Given the description of an element on the screen output the (x, y) to click on. 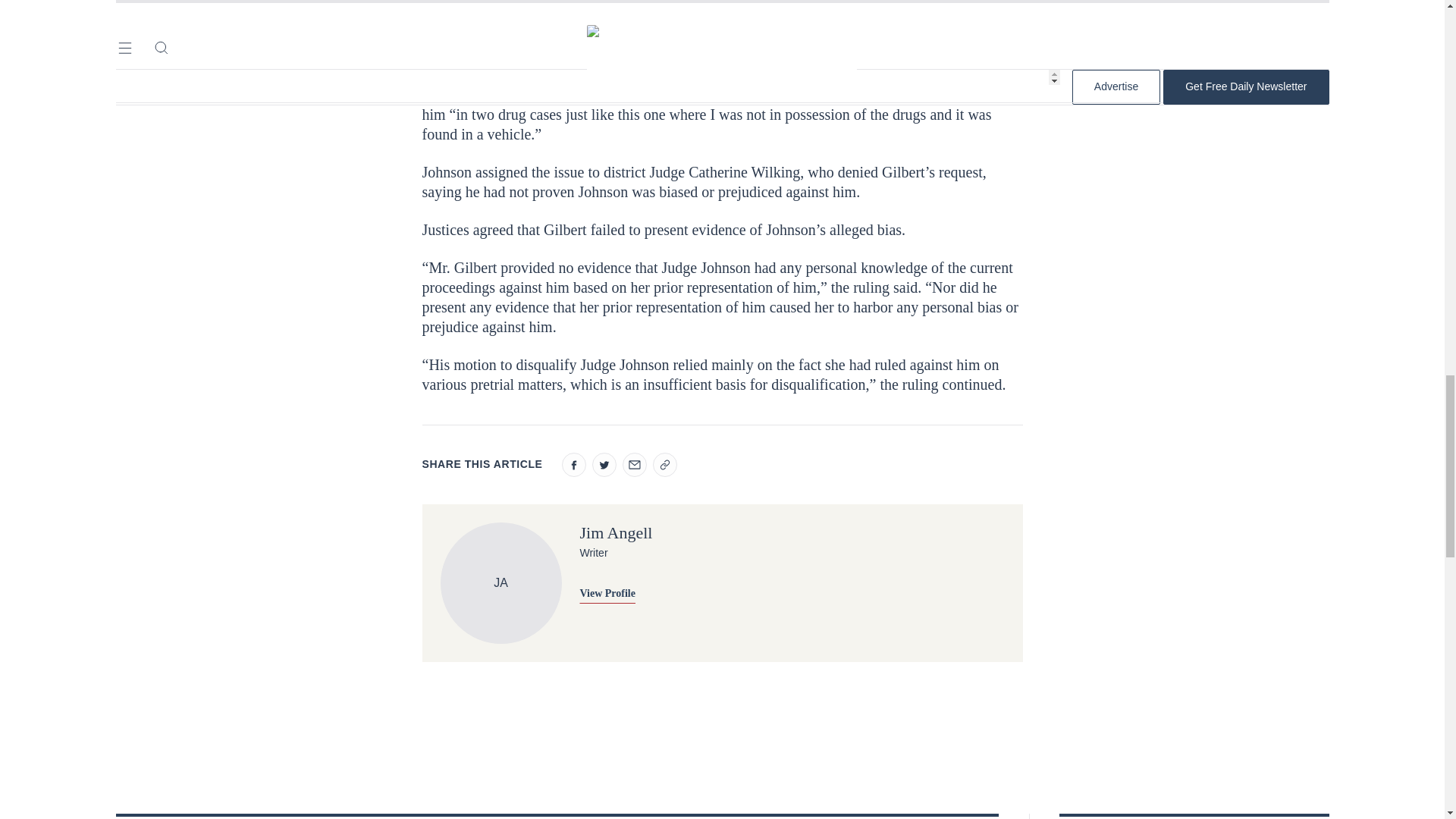
Copy to clipboard (664, 464)
Facebook (572, 464)
